Given the description of an element on the screen output the (x, y) to click on. 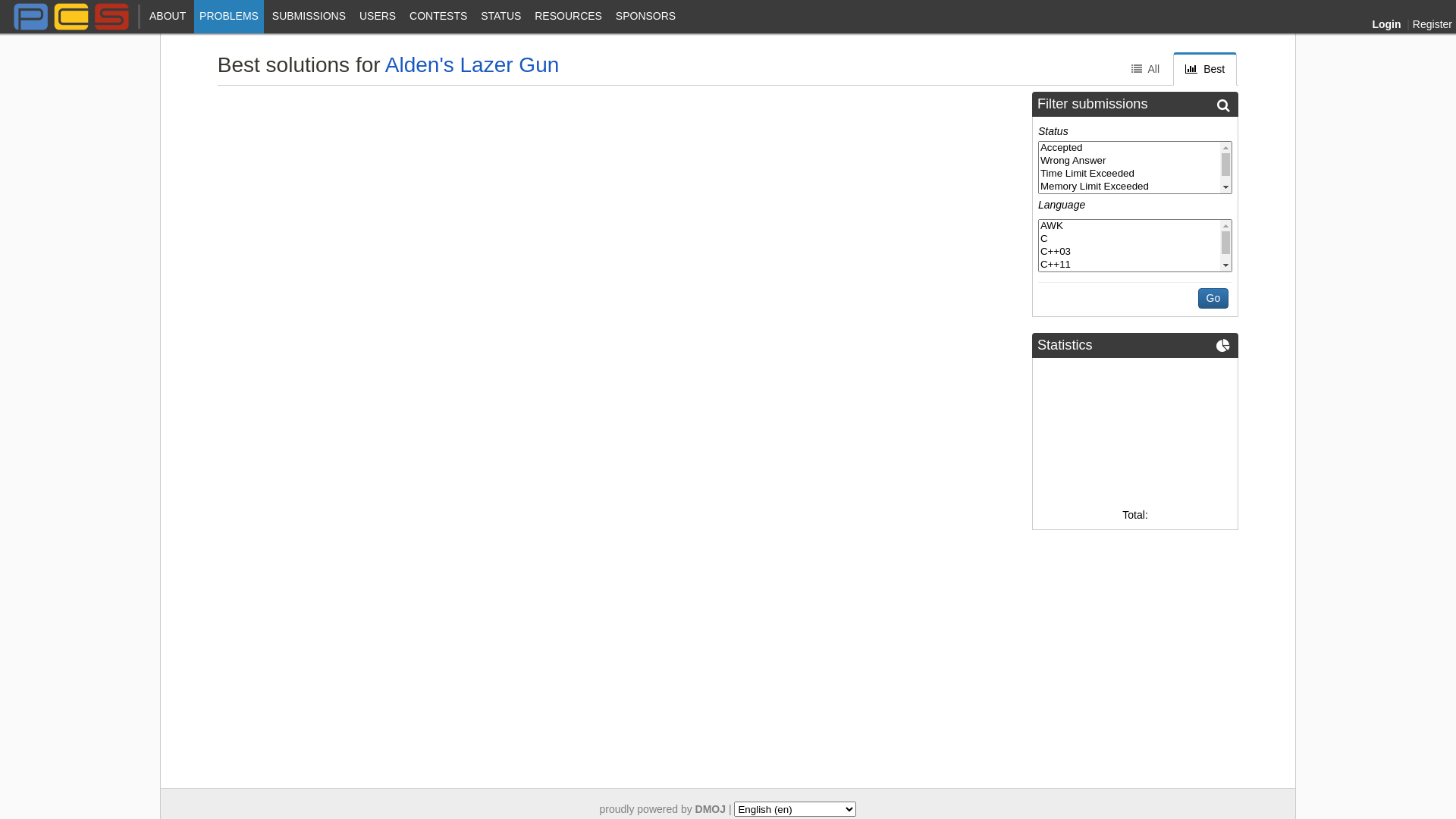
SPONSORS Element type: text (645, 16)
PROBLEMS Element type: text (228, 16)
STATUS Element type: text (500, 16)
ABOUT Element type: text (167, 16)
proudly powered by DMOJ Element type: text (662, 809)
Register Element type: text (1432, 24)
All Element type: text (1145, 68)
USERS Element type: text (377, 16)
CONTESTS Element type: text (438, 16)
SUBMISSIONS Element type: text (308, 16)
Go Element type: text (1213, 298)
Alden's Lazer Gun Element type: text (471, 64)
RESOURCES Element type: text (568, 16)
Login Element type: text (1387, 24)
Best Element type: text (1204, 68)
